Given the description of an element on the screen output the (x, y) to click on. 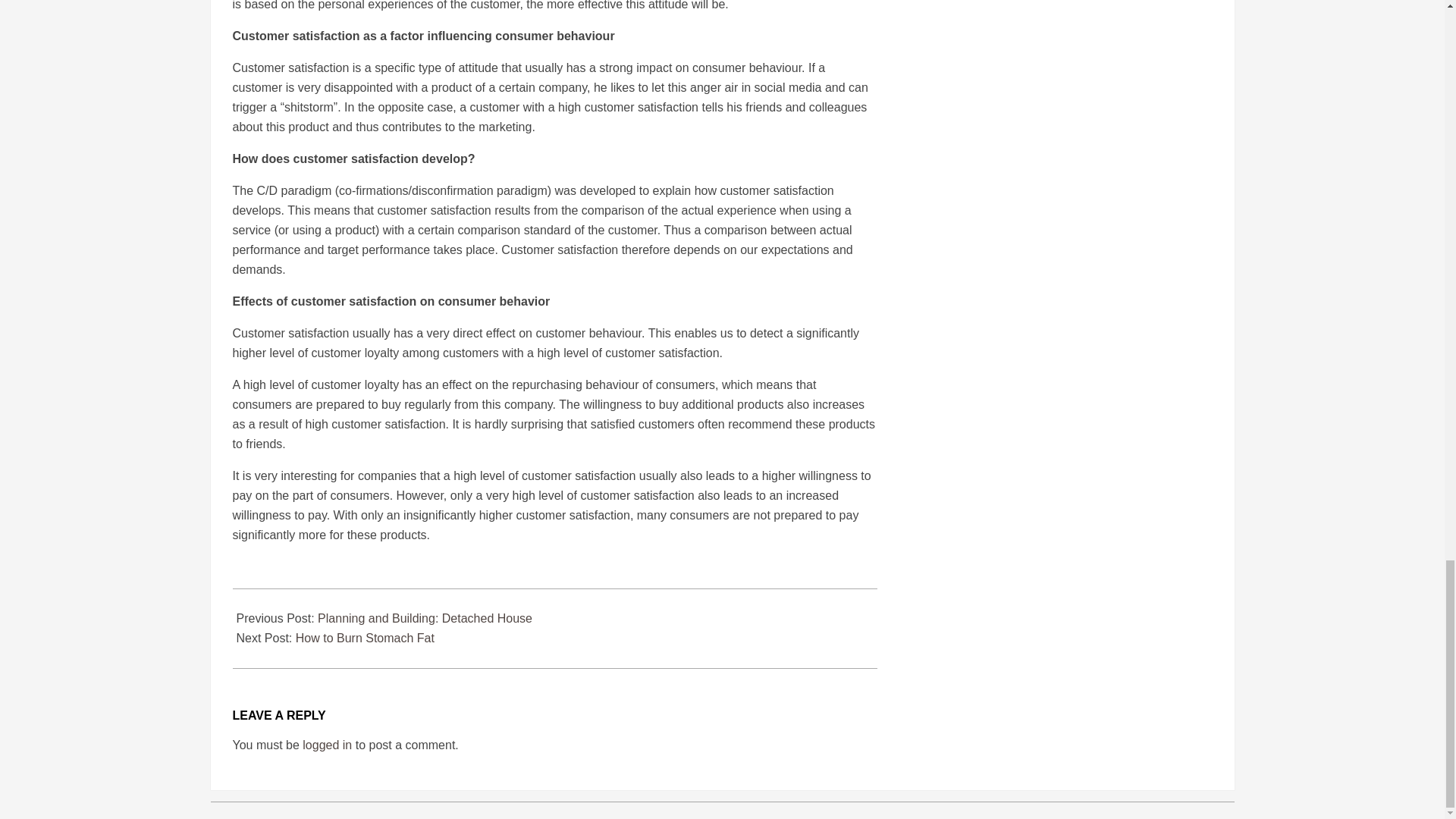
How to Burn Stomach Fat (364, 637)
Planning and Building: Detached House (424, 617)
logged in (327, 744)
